Given the description of an element on the screen output the (x, y) to click on. 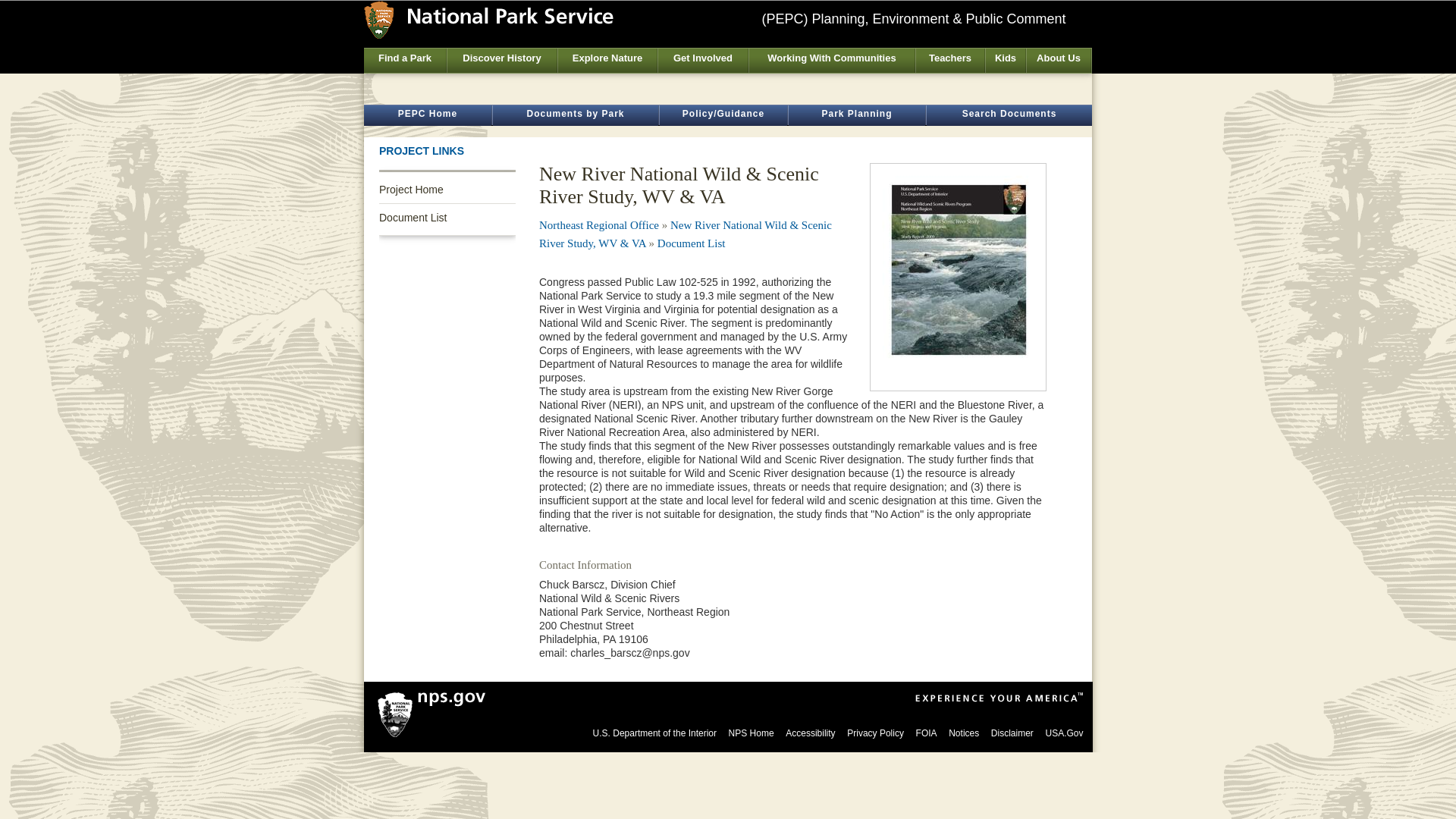
All projects with documents posted for review (428, 115)
Explore Nature (606, 60)
Northeast Regional Office (598, 224)
Notices (963, 733)
Park Planning (856, 115)
PEPC Home (428, 115)
NPS Home (751, 733)
USA.Gov (1064, 733)
About Us (1058, 60)
Teachers (949, 60)
